Given the description of an element on the screen output the (x, y) to click on. 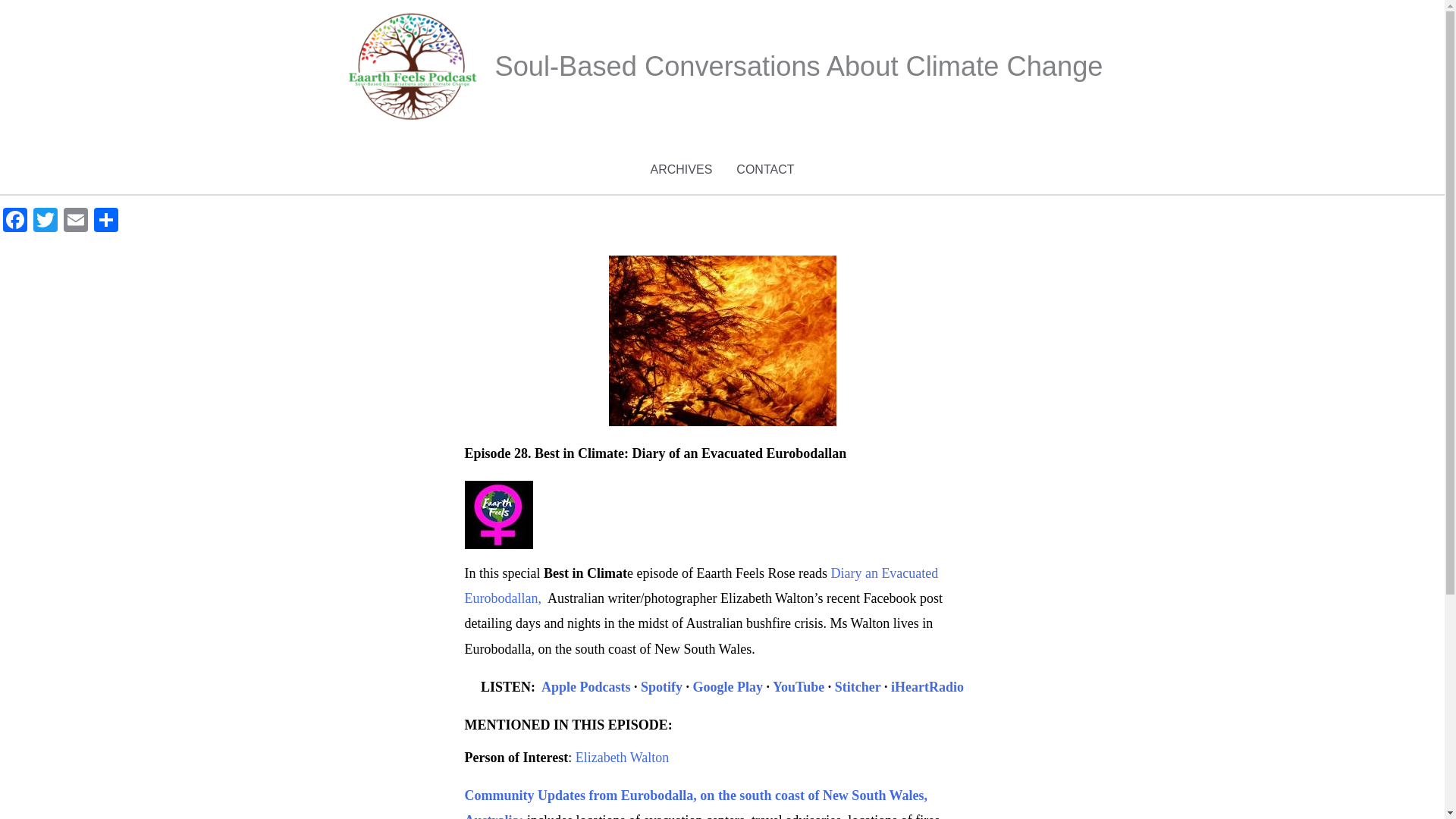
Diary an Evacuated Eurobodallan,  (700, 585)
  Apple Podcasts (582, 686)
Email (75, 221)
CONTACT (764, 169)
Google Play (727, 686)
YouTube (798, 686)
Twitter (45, 221)
ARCHIVES (682, 169)
Email (75, 221)
Elizabeth Walton (622, 757)
